Given the description of an element on the screen output the (x, y) to click on. 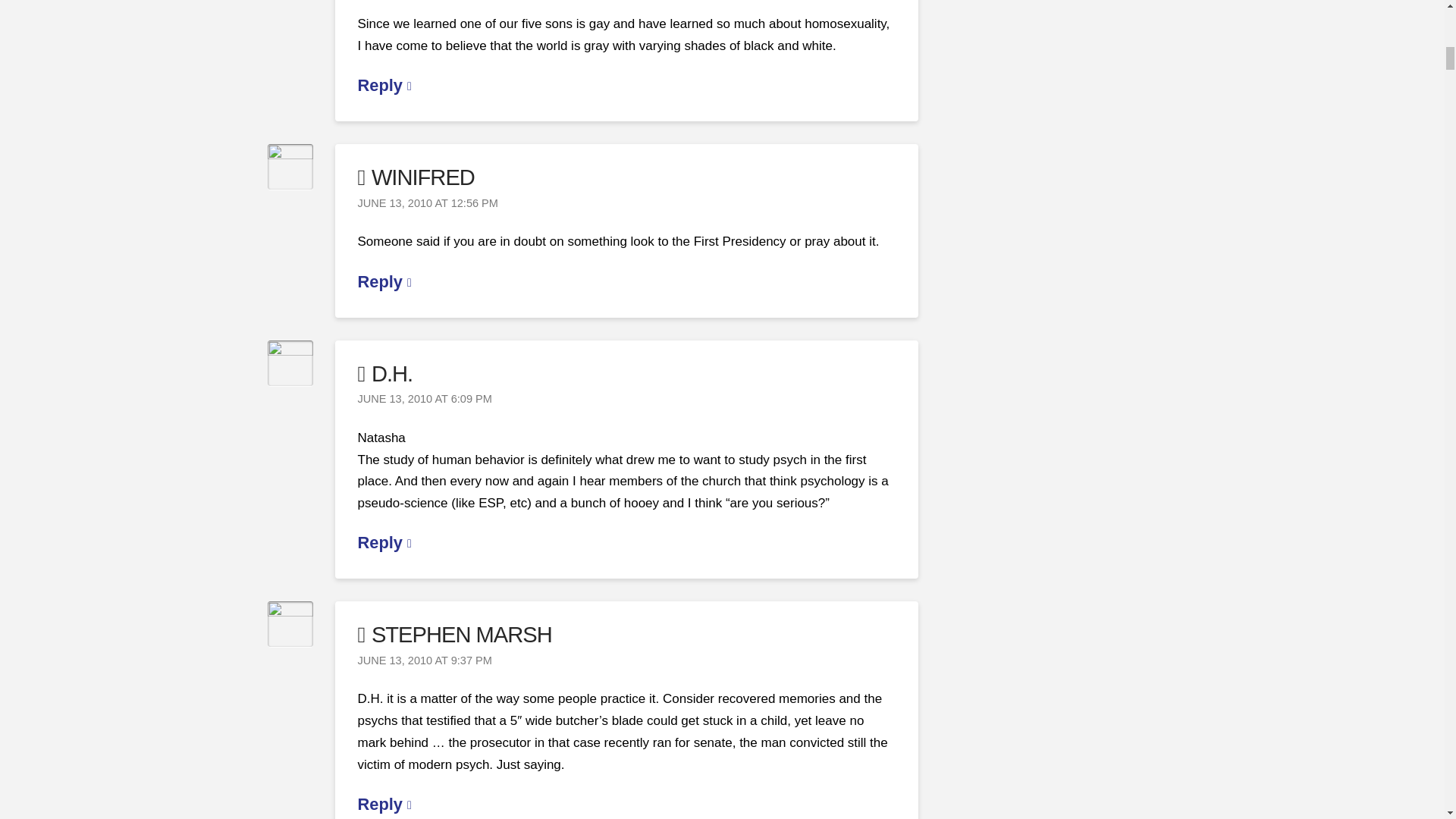
JUNE 13, 2010 AT 12:56 PM (427, 203)
Reply (385, 85)
Reply (385, 281)
